Given the description of an element on the screen output the (x, y) to click on. 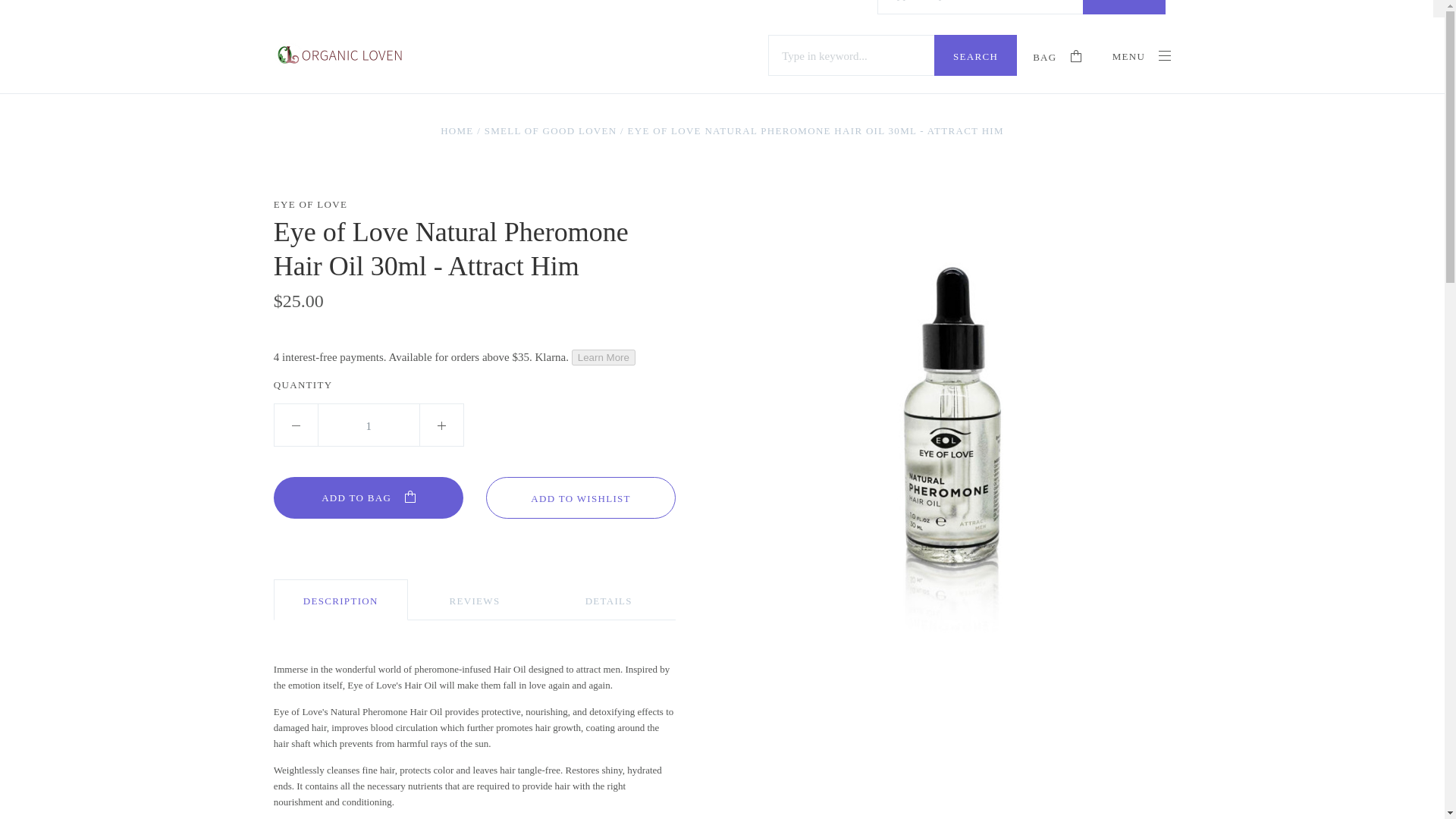
Add To Wishlist (580, 497)
SEARCH (975, 55)
MENU (1142, 55)
BAG (1056, 61)
1 (368, 424)
